Given the description of an element on the screen output the (x, y) to click on. 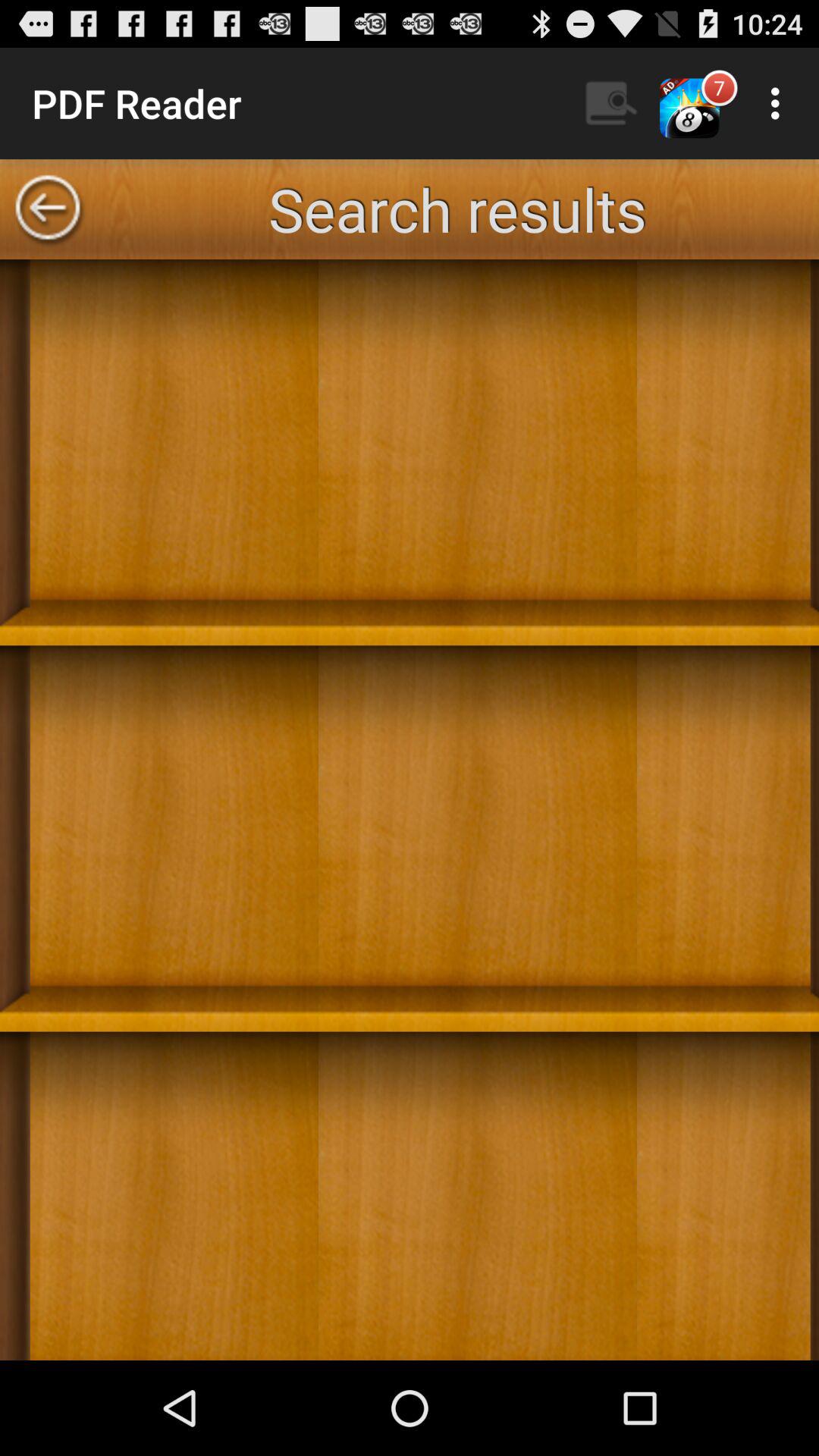
open item to the right of the pdf reader icon (611, 103)
